Given the description of an element on the screen output the (x, y) to click on. 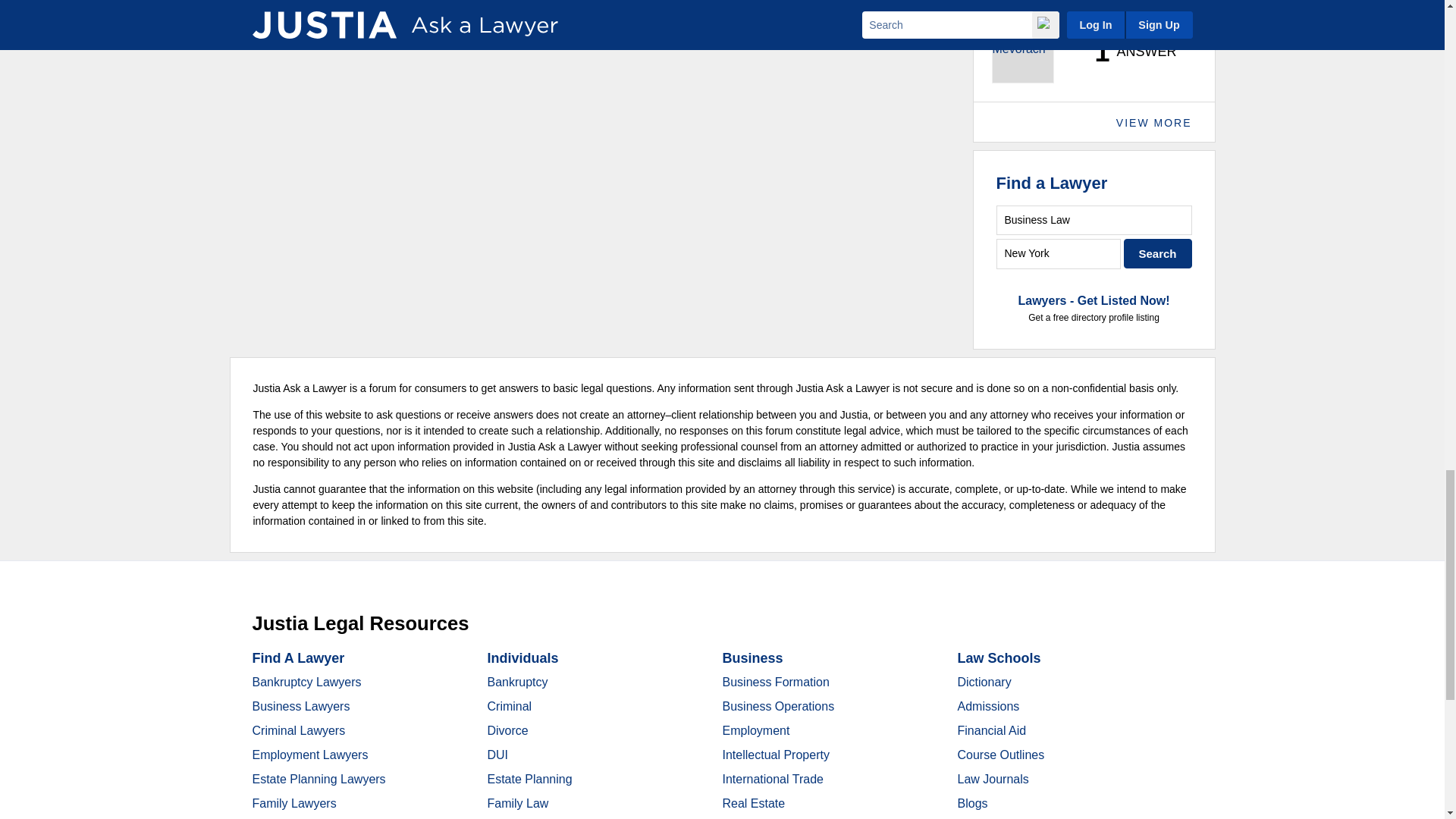
Ask a Lawyer - Leaderboard - Lawyer Photo (1021, 52)
Search (1158, 253)
City, State (1058, 253)
Business Law (1093, 220)
Legal Issue or Lawyer Name (1093, 220)
Search (1158, 253)
Ask a Lawyer - Leaderboard - Lawyer Name (1042, 7)
New York (1058, 253)
Ask a Lawyer - Leaderboard - Lawyer Stats (1127, 52)
